Given the description of an element on the screen output the (x, y) to click on. 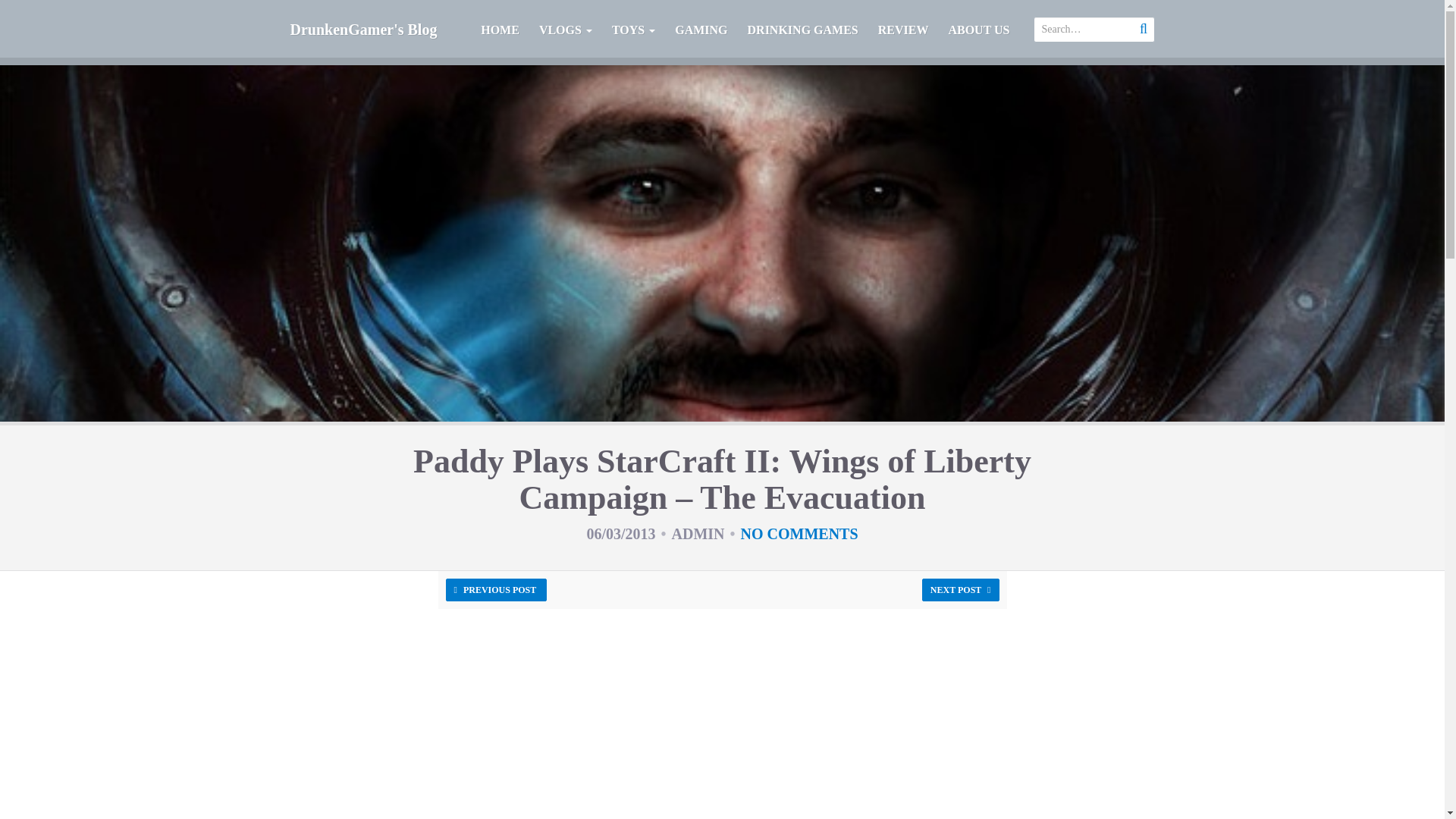
VLOGS (565, 32)
Wednesday, March 6th, 2013, 7:26 am (620, 533)
ABOUT US (978, 32)
NEXT POST (959, 589)
GAMING (700, 32)
DRINKING GAMES (802, 32)
PREVIOUS POST (496, 589)
REVIEW (903, 32)
HOME (499, 32)
DrunkenGamer's Blog (363, 28)
NO COMMENTS (800, 533)
NO COMMENTS (800, 533)
TOYS (633, 32)
